Given the description of an element on the screen output the (x, y) to click on. 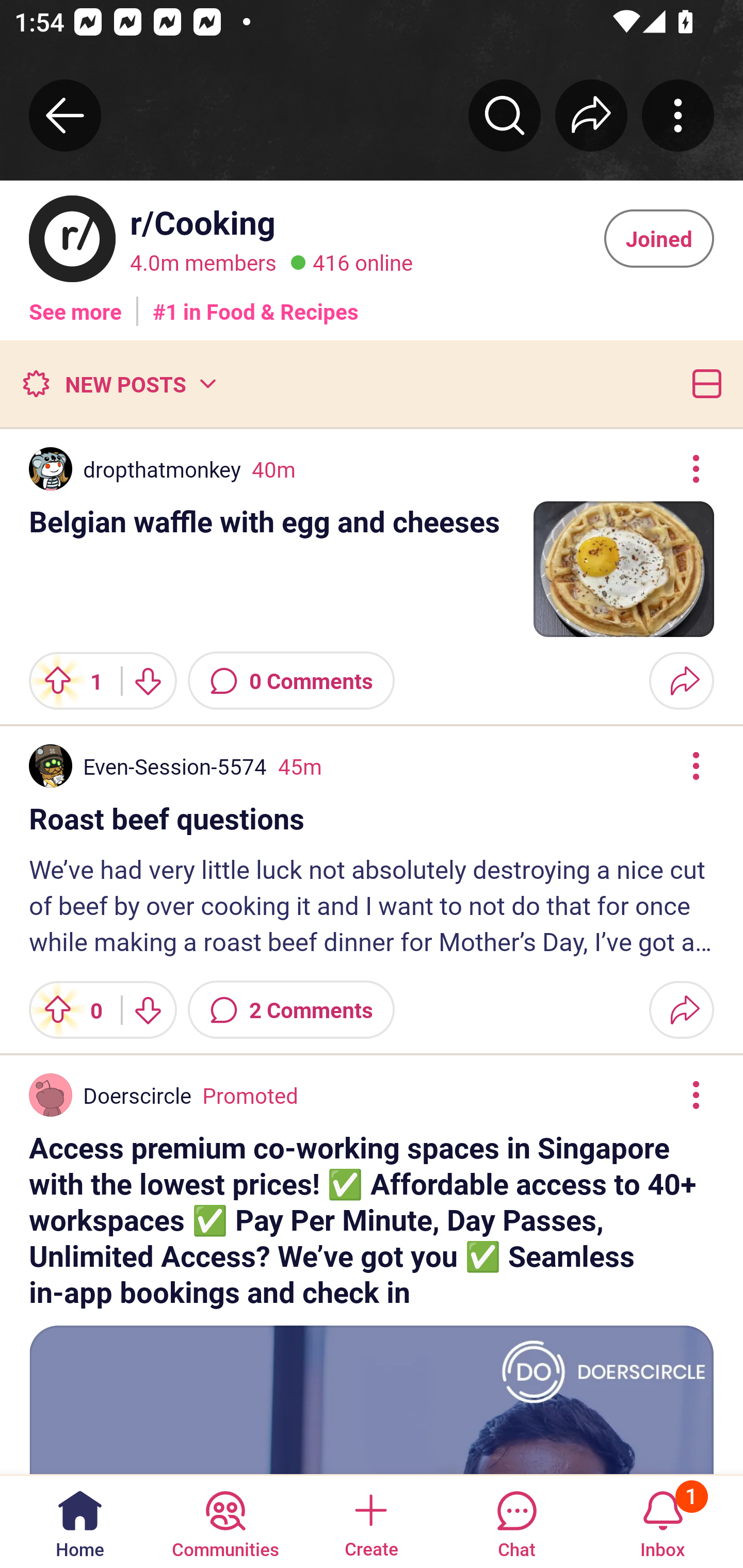
Back (64, 115)
Search r/﻿Cooking (504, 115)
Share r/﻿Cooking (591, 115)
More community actions (677, 115)
See more (74, 304)
#1 in Food & Recipes (255, 304)
New posts NEW POSTS (118, 383)
Card (703, 383)
Home (80, 1520)
Communities (225, 1520)
Create a post Create (370, 1520)
Chat (516, 1520)
Inbox, has 1 notification 1 Inbox (662, 1520)
